Given the description of an element on the screen output the (x, y) to click on. 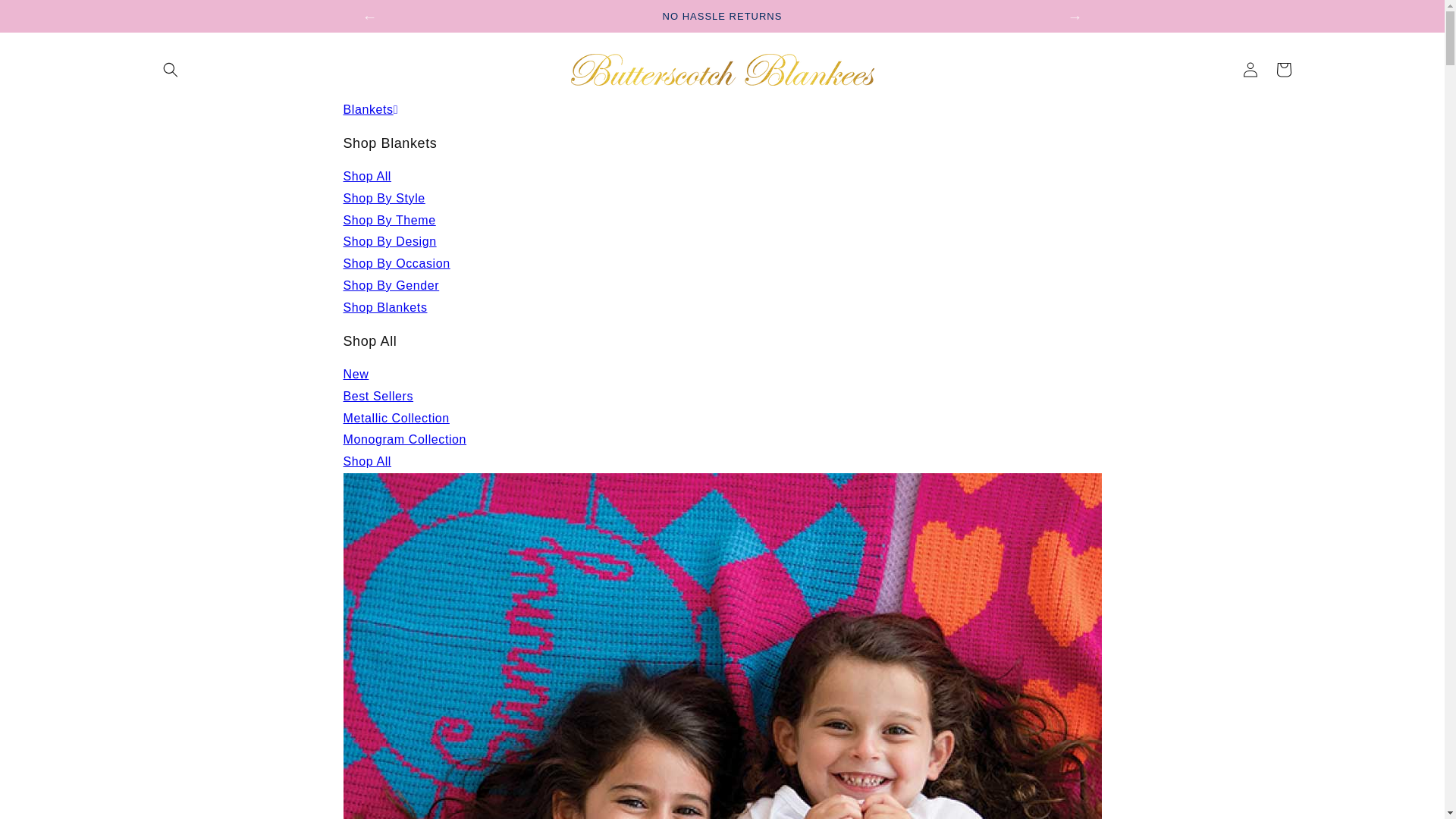
Best Sellers (377, 395)
Shop All (366, 175)
Shop By Style (383, 197)
Shop By Gender (390, 285)
Skip to content (45, 17)
Shop By Theme (388, 219)
Shop Blankets (384, 307)
Metallic Collection (395, 418)
New (355, 373)
Blankets (369, 109)
